Given the description of an element on the screen output the (x, y) to click on. 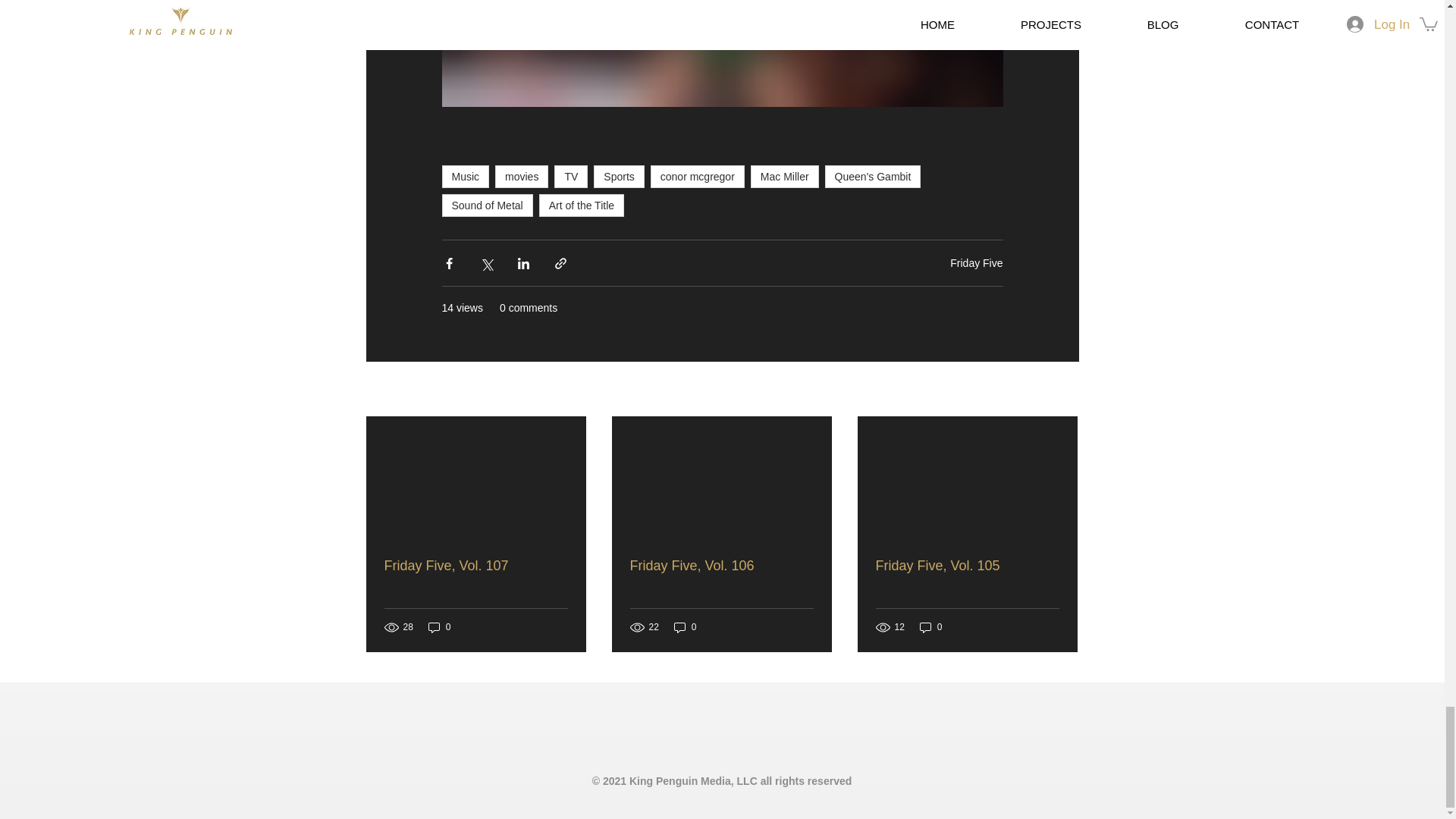
Friday Five, Vol. 107 (475, 565)
Friday Five, Vol. 106 (720, 565)
Sound of Metal (486, 205)
Music (465, 176)
See All (1061, 390)
conor mcgregor (697, 176)
Queen's Gambit (873, 176)
Sports (618, 176)
0 (439, 626)
TV (571, 176)
